Given the description of an element on the screen output the (x, y) to click on. 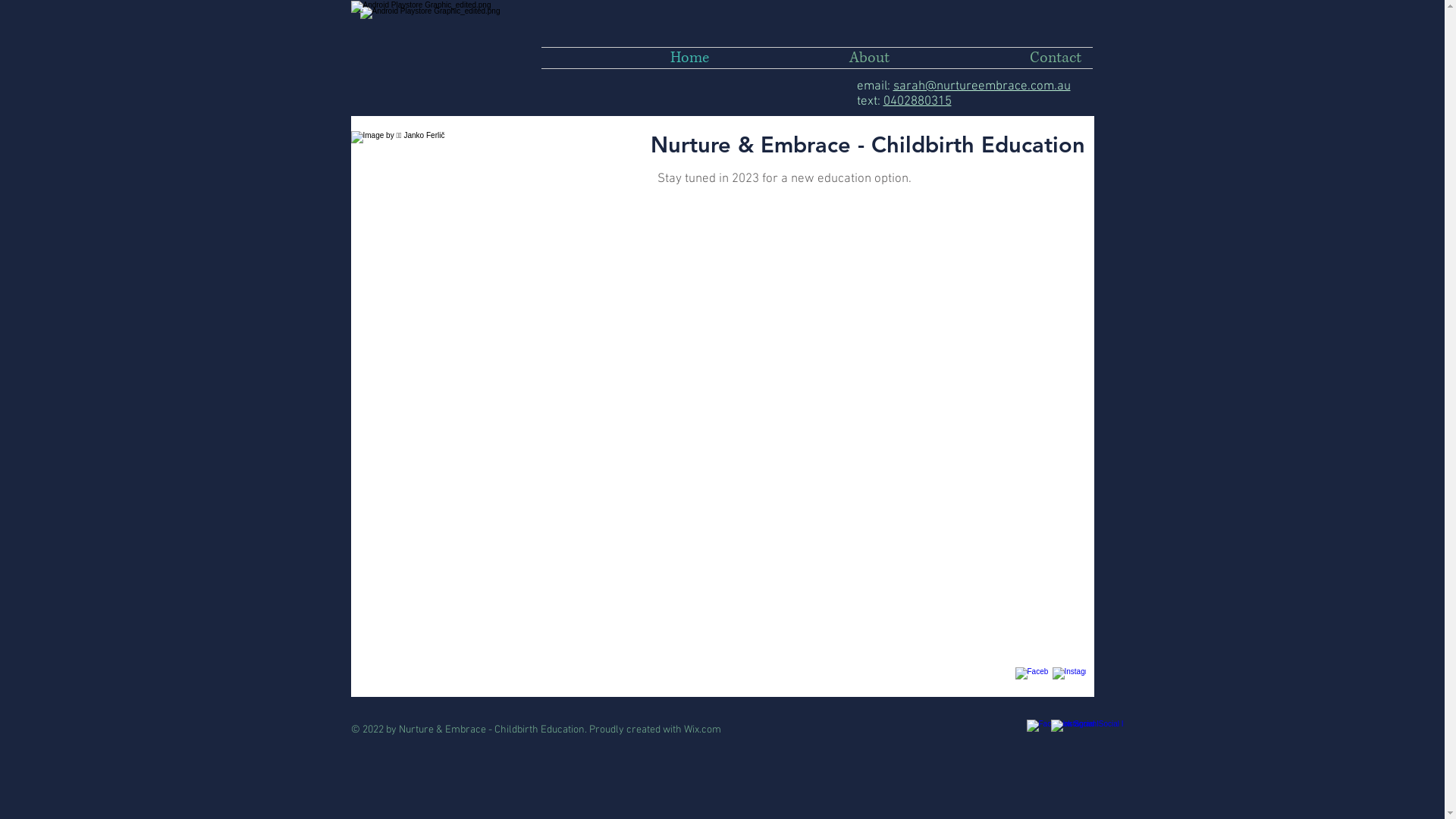
About Element type: text (810, 57)
Contact Element type: text (996, 57)
Wix.com Element type: text (702, 729)
Home Element type: text (630, 57)
0402880315 Element type: text (916, 101)
sarah@nurtureembrace.com.au Element type: text (981, 86)
